Given the description of an element on the screen output the (x, y) to click on. 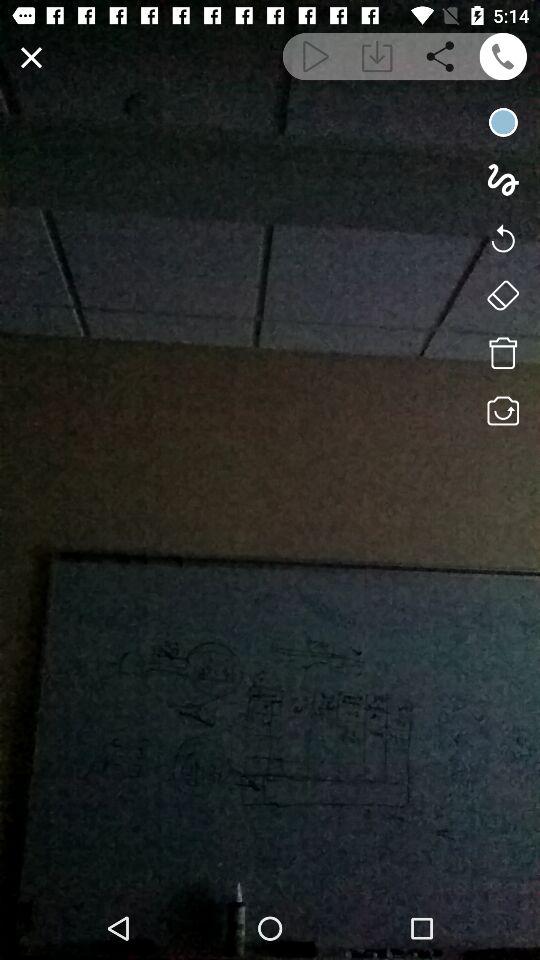
share (439, 56)
